Given the description of an element on the screen output the (x, y) to click on. 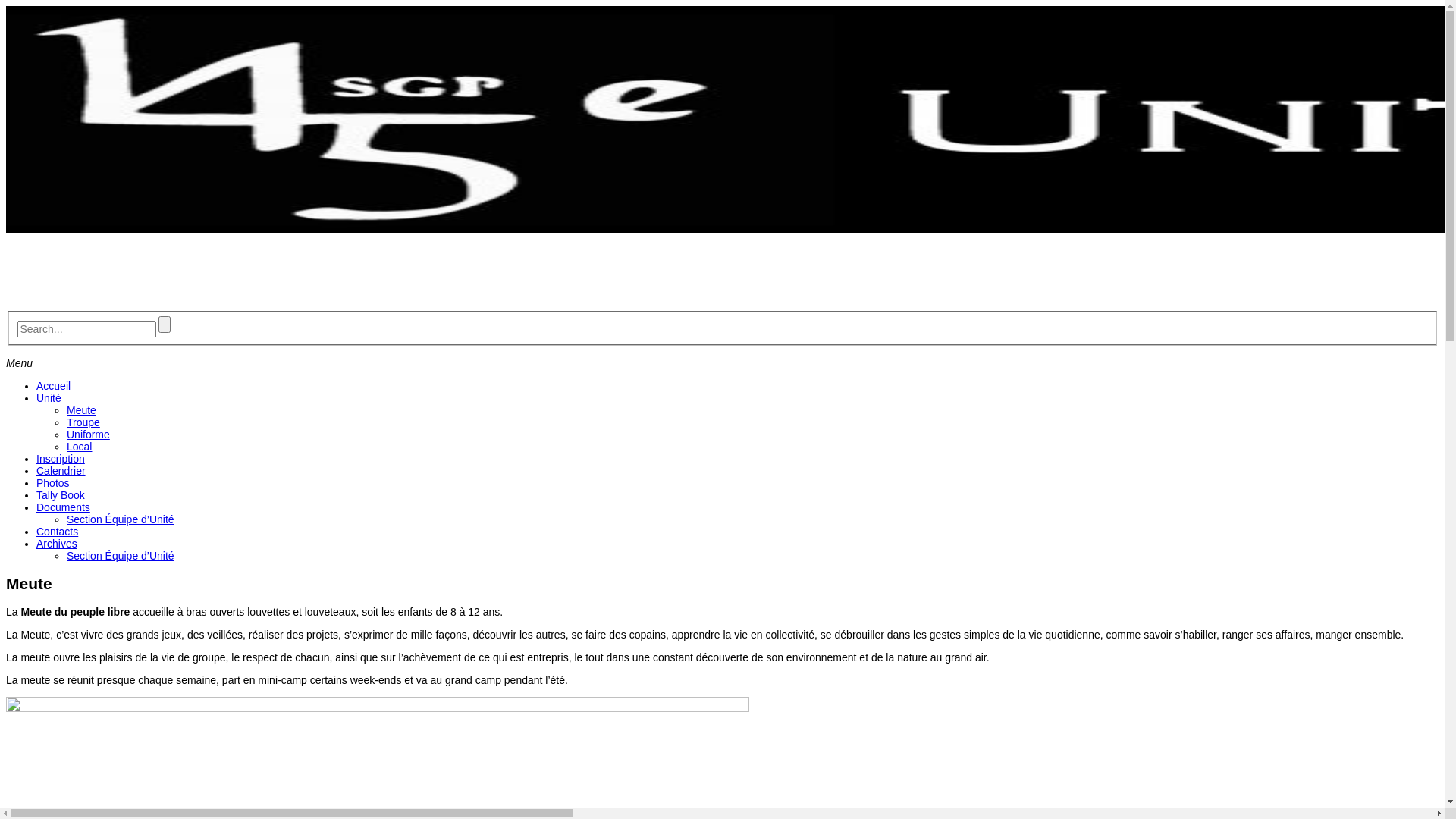
Inscription Element type: text (60, 458)
Archives Element type: text (56, 543)
Calendrier Element type: text (60, 470)
Skip to content Element type: text (5, 5)
Meute Element type: text (81, 410)
Documents Element type: text (63, 507)
Search for: Element type: hover (85, 328)
Troupe Element type: text (83, 422)
Accueil Element type: text (53, 385)
Local Element type: text (78, 446)
Contacts Element type: text (57, 531)
Uniforme Element type: text (87, 434)
Photos Element type: text (52, 482)
Tally Book Element type: text (60, 495)
